Given the description of an element on the screen output the (x, y) to click on. 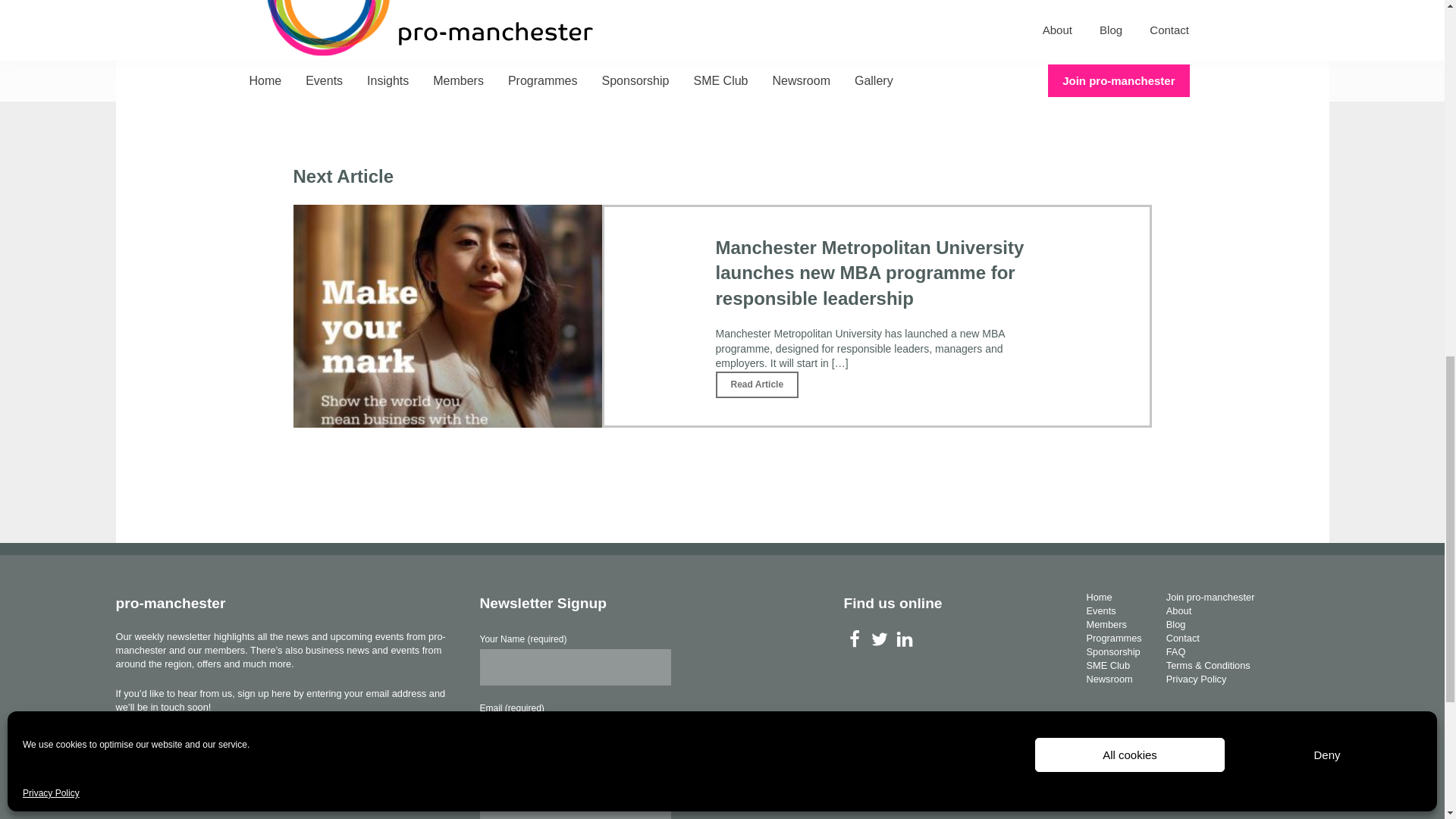
Home (1099, 596)
Facebook (853, 638)
Read Article (757, 384)
LinkedIn (904, 638)
Events (1100, 610)
Twitter (878, 638)
Share by Email (395, 25)
